Given the description of an element on the screen output the (x, y) to click on. 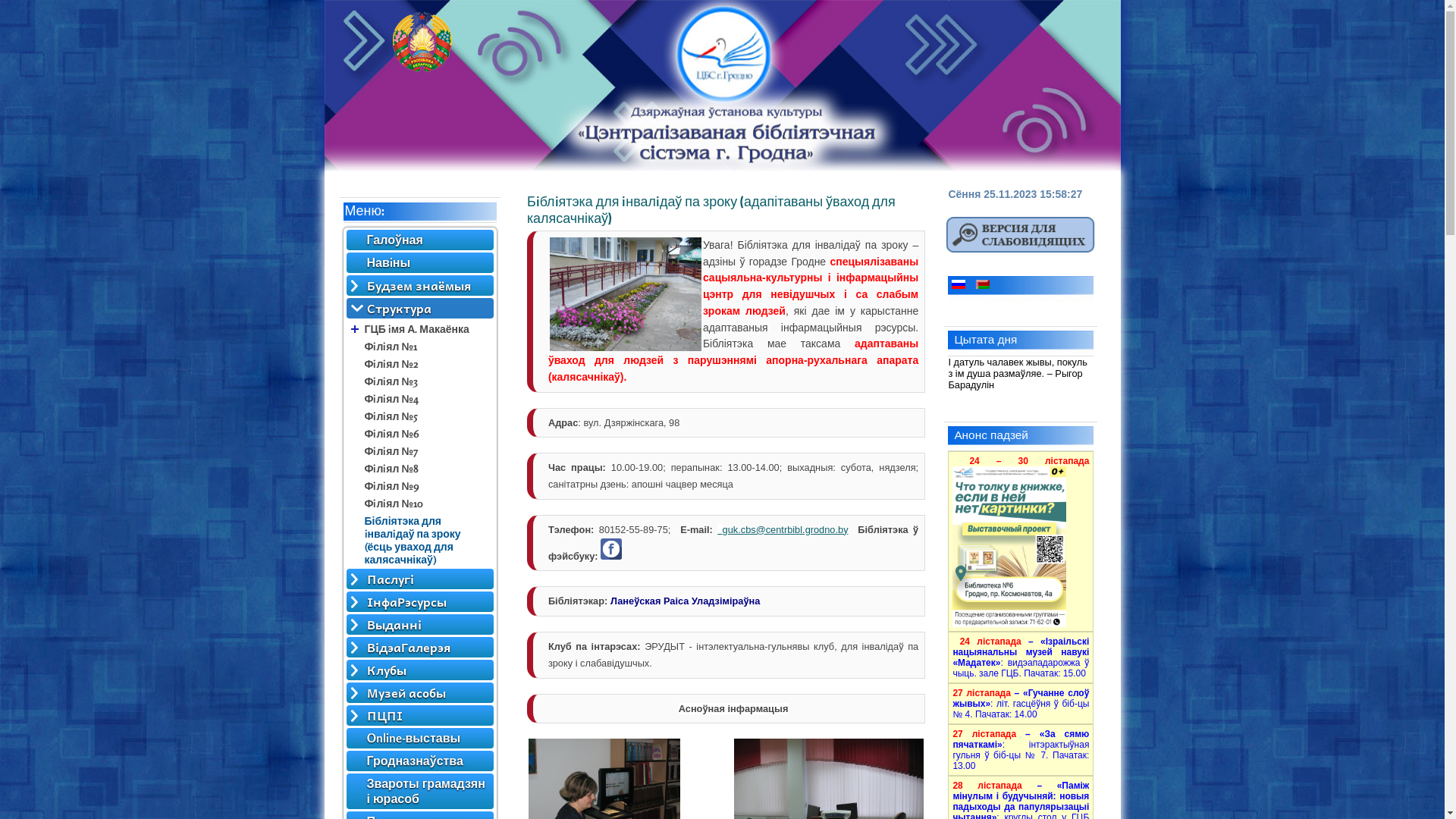
Belarusian (BY) Element type: hover (982, 283)
guk.cbs@centrbibl.grodno.by Element type: text (785, 529)
